Given the description of an element on the screen output the (x, y) to click on. 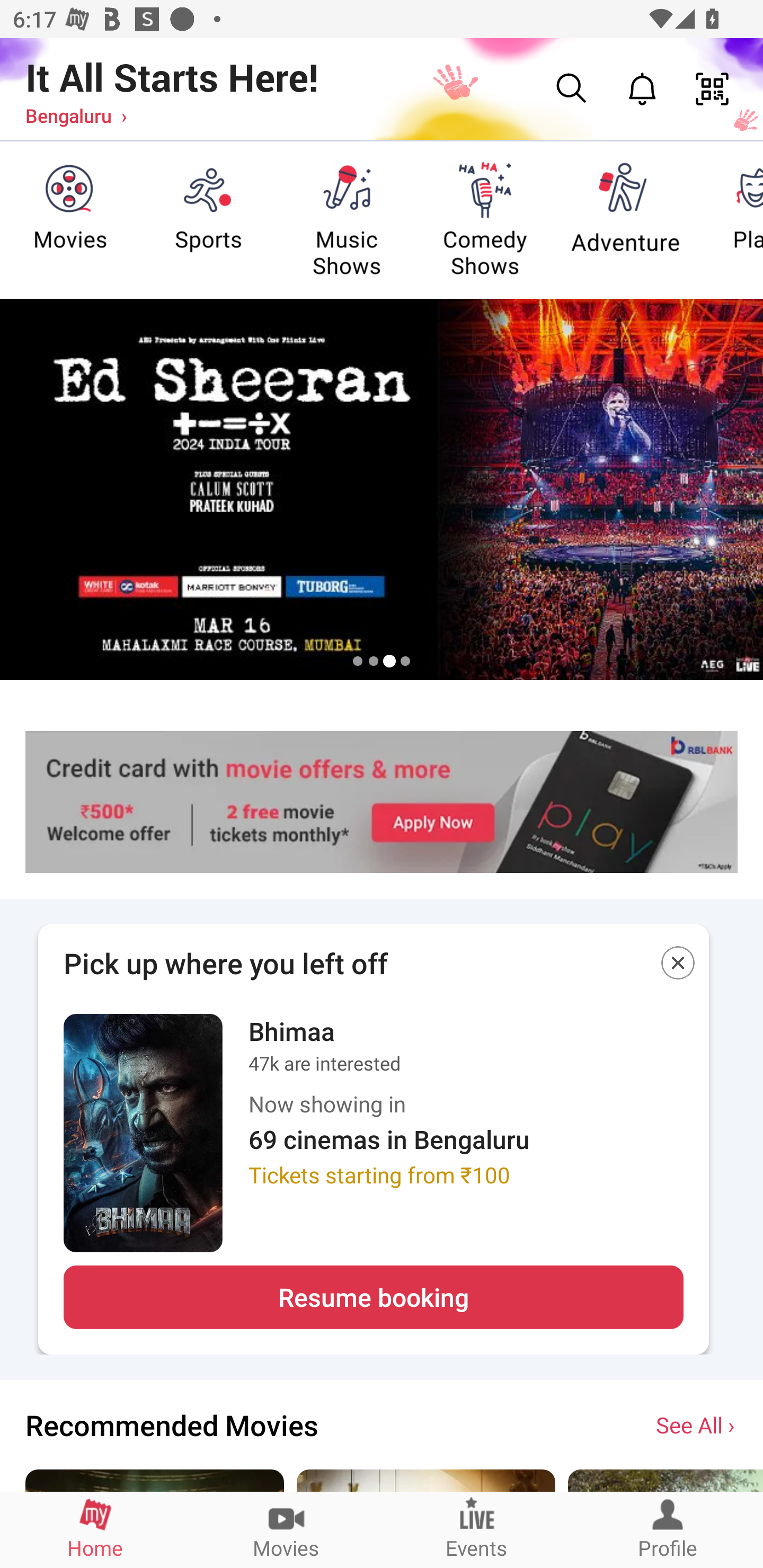
Bengaluru  › (76, 114)
  (678, 966)
Resume booking (373, 1297)
See All › (696, 1424)
Home (95, 1529)
Movies (285, 1529)
Events (476, 1529)
Profile (667, 1529)
